Given the description of an element on the screen output the (x, y) to click on. 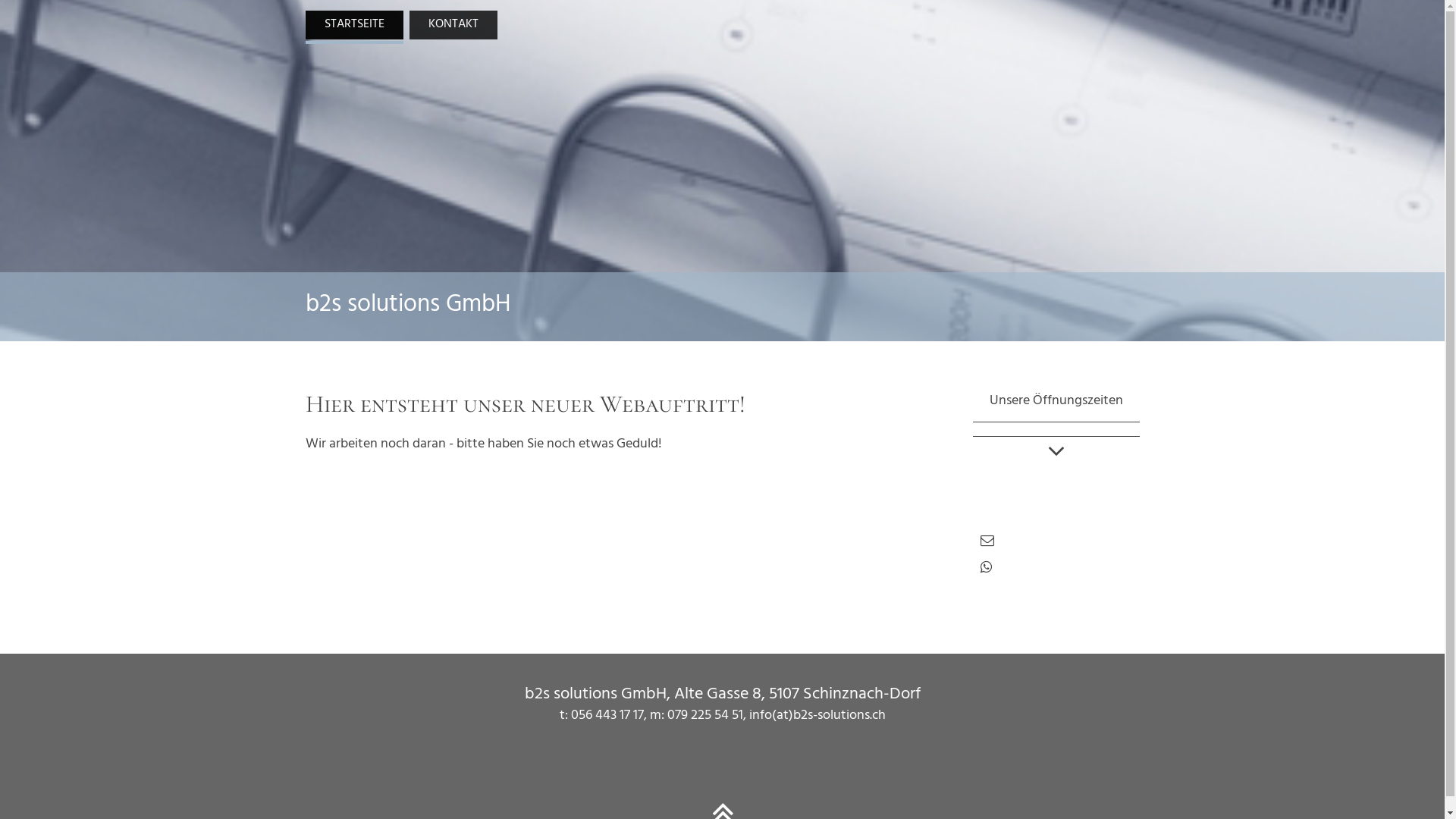
STARTSEITE Element type: text (353, 24)
KONTAKT Element type: text (453, 24)
E-mail Element type: hover (986, 542)
WhatsApp Element type: hover (985, 569)
